Given the description of an element on the screen output the (x, y) to click on. 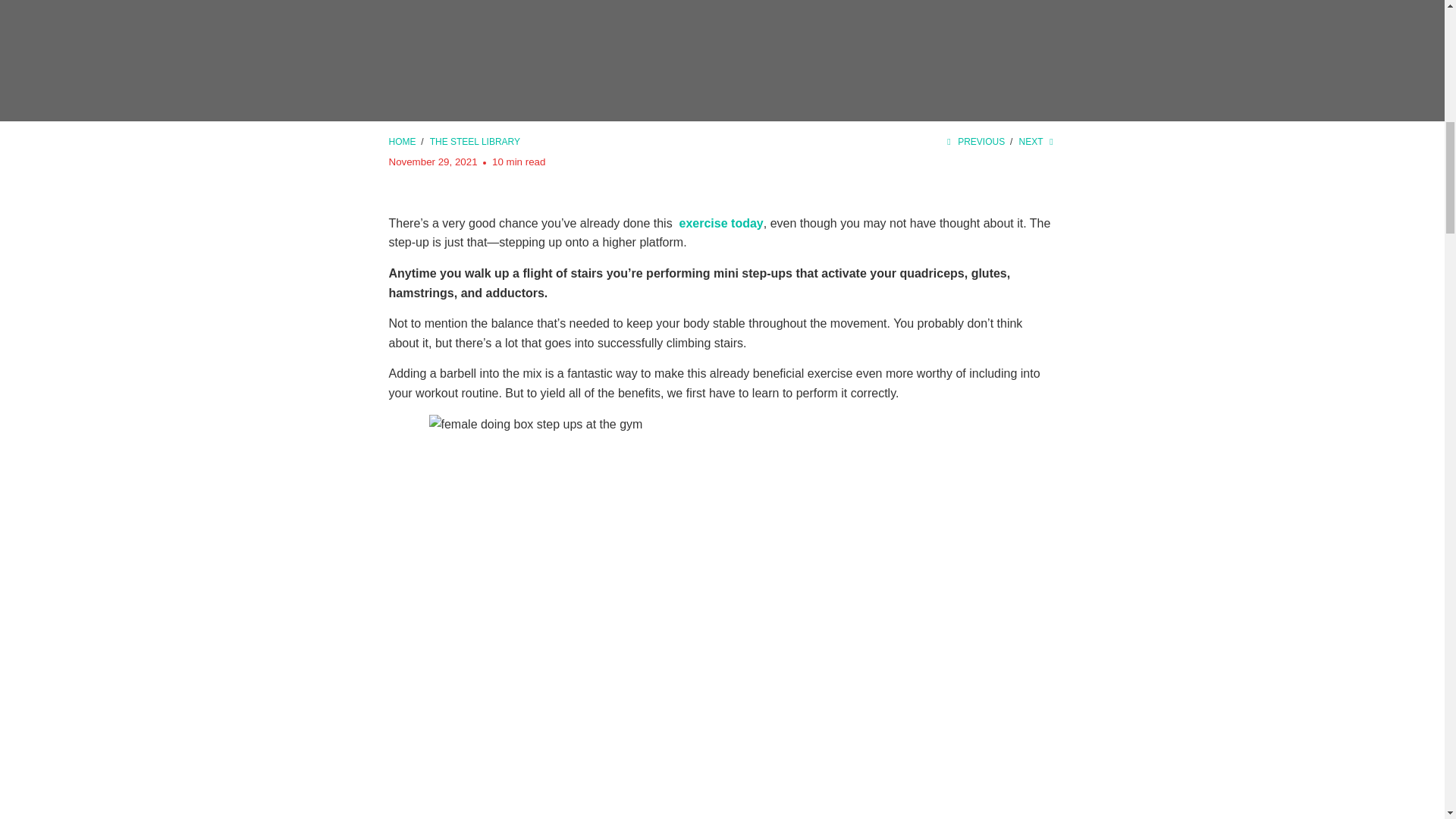
The STEEL Library (474, 141)
Steel Supplements (402, 141)
